Given the description of an element on the screen output the (x, y) to click on. 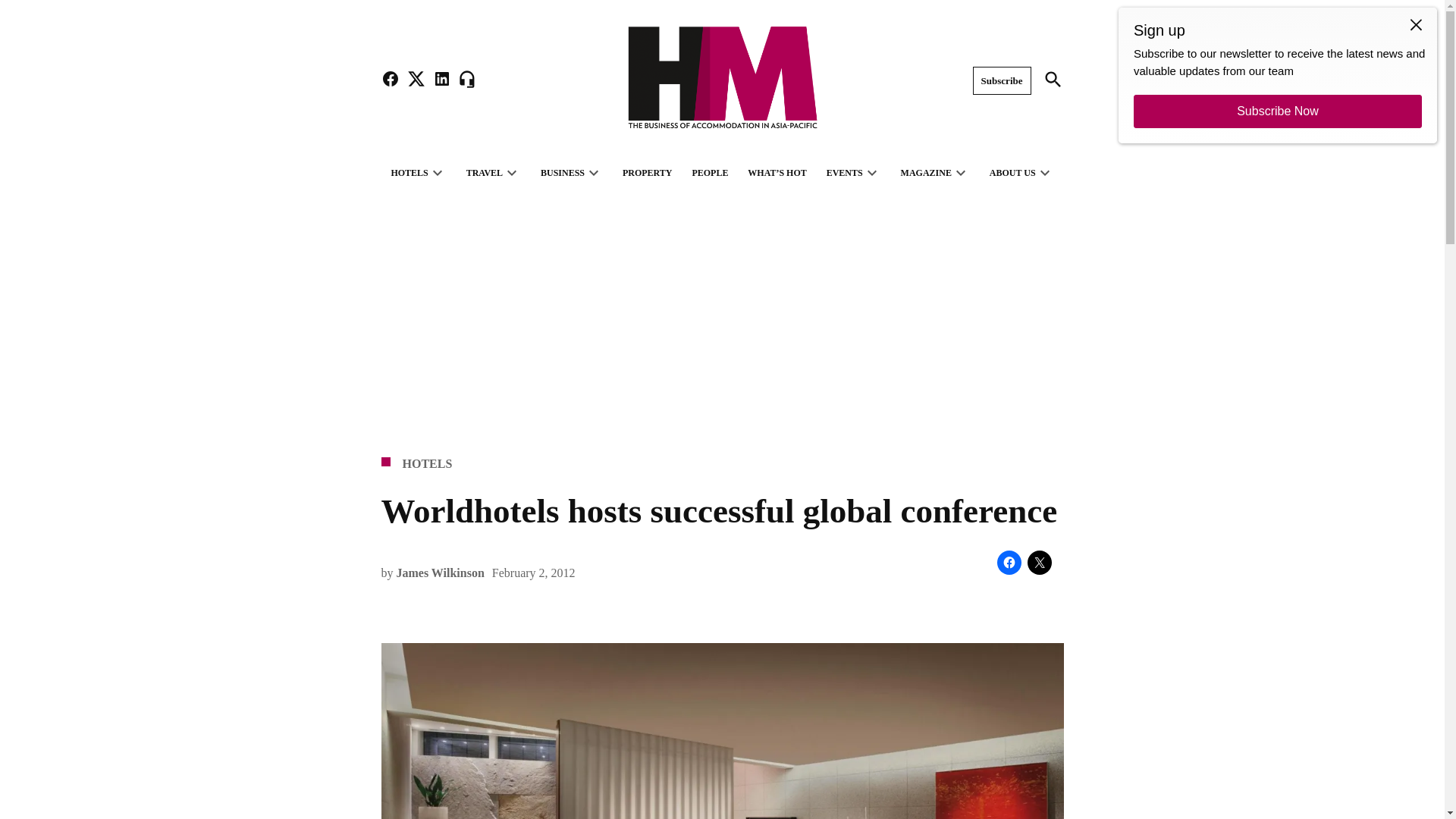
Click to share on X (1038, 562)
Click to share on Facebook (1007, 562)
Popup CTA (1277, 75)
